Given the description of an element on the screen output the (x, y) to click on. 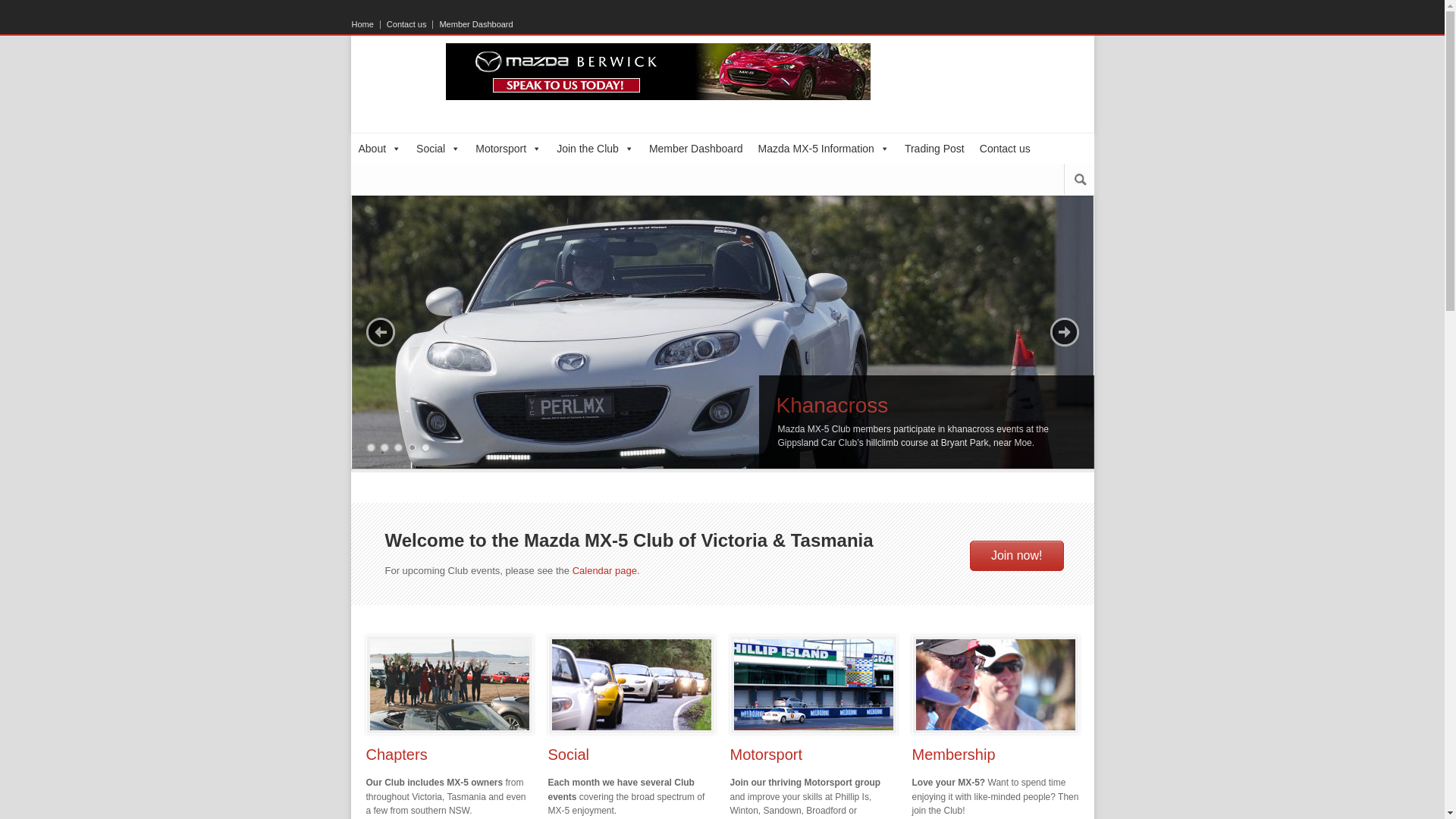
Find out more about Chapters Element type: hover (449, 684)
Motorsport Element type: text (508, 148)
Social Element type: text (437, 148)
About Element type: text (379, 148)
Contact us Element type: text (406, 24)
Mazda MX-5 Information Element type: text (823, 148)
Chapters Element type: text (395, 754)
Get involved in motor sport Element type: hover (813, 684)
Next Element type: text (1063, 331)
1 Element type: text (370, 447)
3 Element type: text (397, 447)
Member Dashboard Element type: text (695, 148)
Trading Post Element type: text (934, 148)
Join now! Element type: text (1016, 555)
Member Dashboard Element type: text (472, 24)
Home Element type: text (365, 24)
Previous Element type: text (379, 331)
4 Element type: text (411, 447)
Calendar page. Element type: text (606, 570)
Membership Element type: text (952, 754)
Active social program Element type: hover (631, 684)
Motorsport Element type: text (765, 754)
2 Element type: text (384, 447)
Social Element type: text (567, 754)
Contact us Element type: text (1005, 148)
5 Element type: text (424, 447)
Join the Club Element type: hover (995, 684)
Join the Club Element type: text (595, 148)
